Given the description of an element on the screen output the (x, y) to click on. 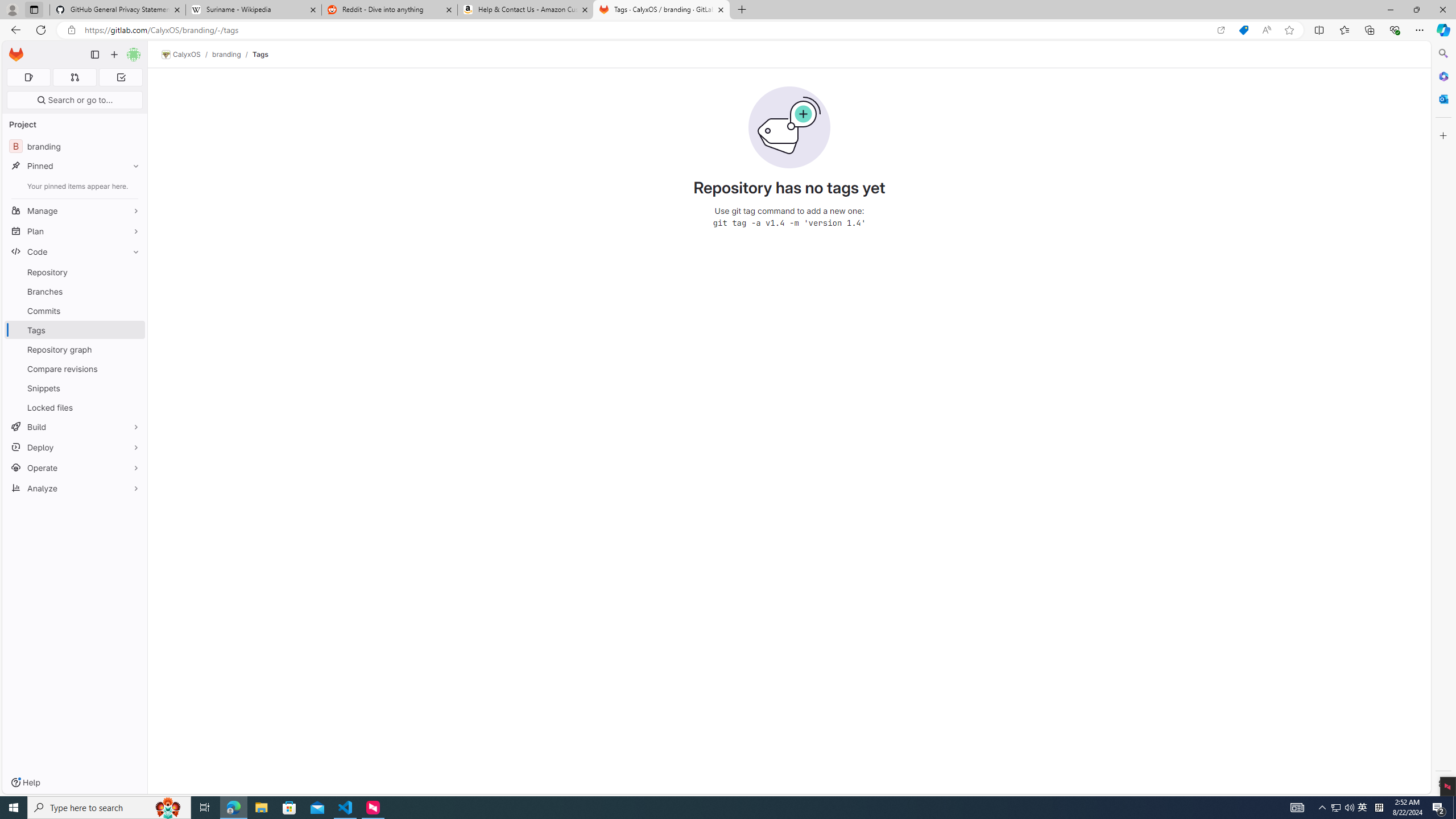
Locked files (74, 407)
Analyze (74, 488)
Pin Tags (132, 329)
branding/ (231, 53)
Open in app (1220, 29)
Reddit - Dive into anything (390, 9)
Suriname - Wikipedia (253, 9)
Pin Repository graph (132, 349)
Primary navigation sidebar (94, 54)
Tags (259, 53)
Customize (1442, 135)
